Given the description of an element on the screen output the (x, y) to click on. 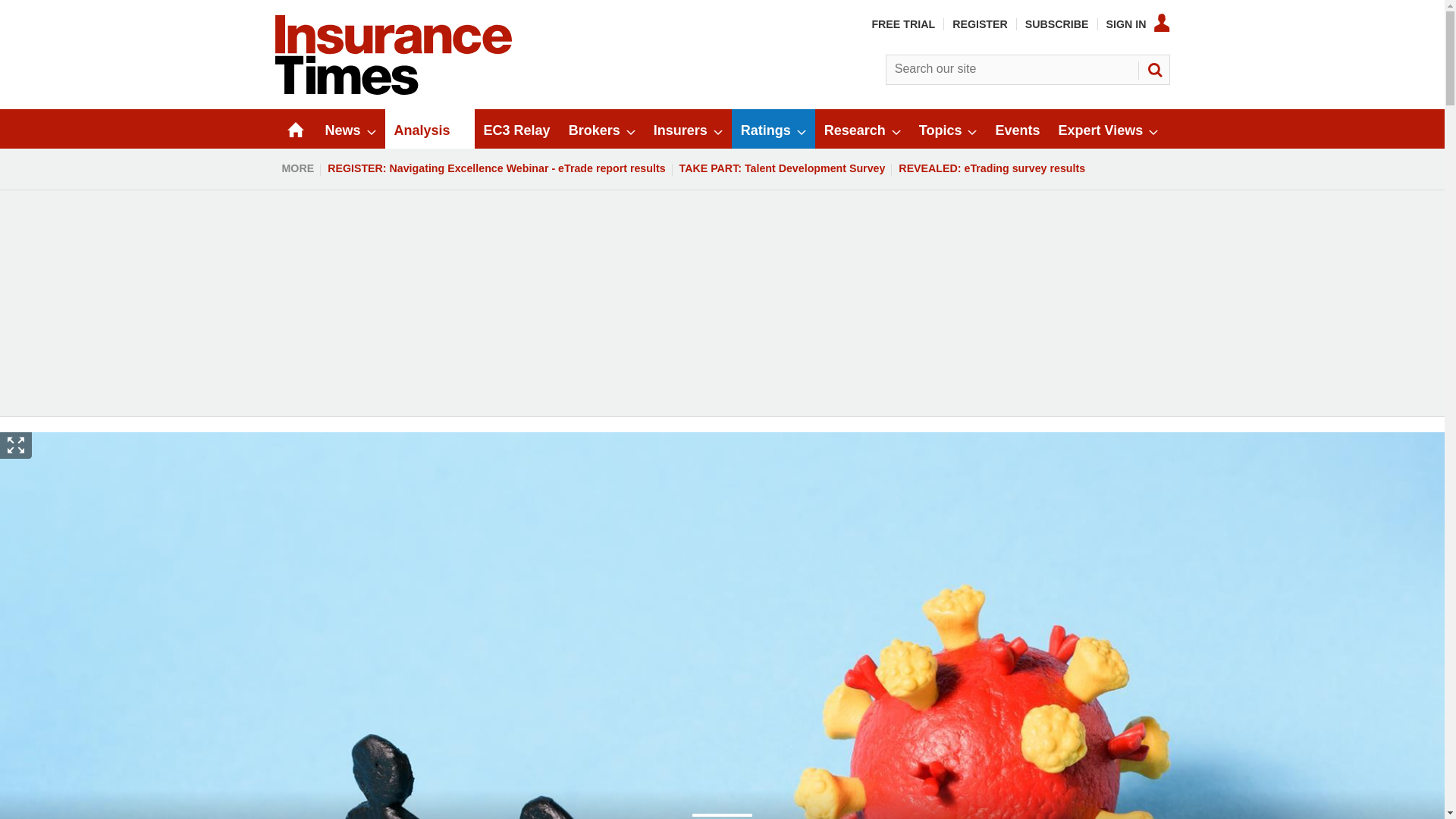
SUBSCRIBE (1057, 24)
REGISTER (979, 24)
Insert Logo text (393, 90)
SIGN IN (1138, 24)
TAKE PART: Talent Development Survey (782, 168)
FREE TRIAL (902, 24)
SEARCH (1153, 69)
REVEALED: eTrading survey results (991, 168)
